Given the description of an element on the screen output the (x, y) to click on. 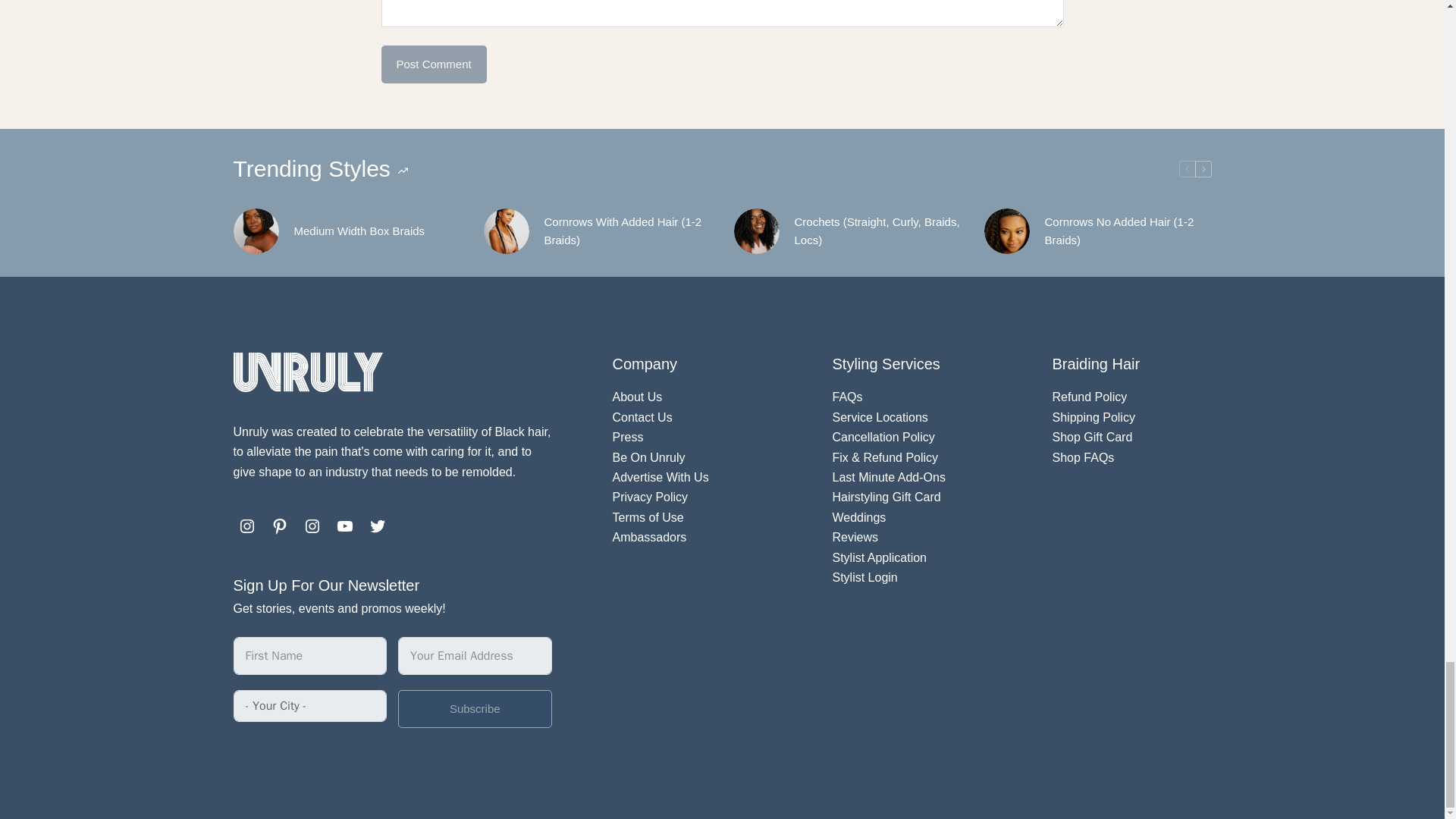
crochet-braids-natural-hairstylist-new-york-yeluchi-50 (755, 230)
short-box-braids-natural-hairstylist-new-york-yeluchi-43 (255, 230)
single-cornrow-natural-hairstylist-new-york-yeluchi-31 (1006, 230)
two-french-braids-natural-hairstylist-new-york-yeluchi-14 (506, 230)
